Given the description of an element on the screen output the (x, y) to click on. 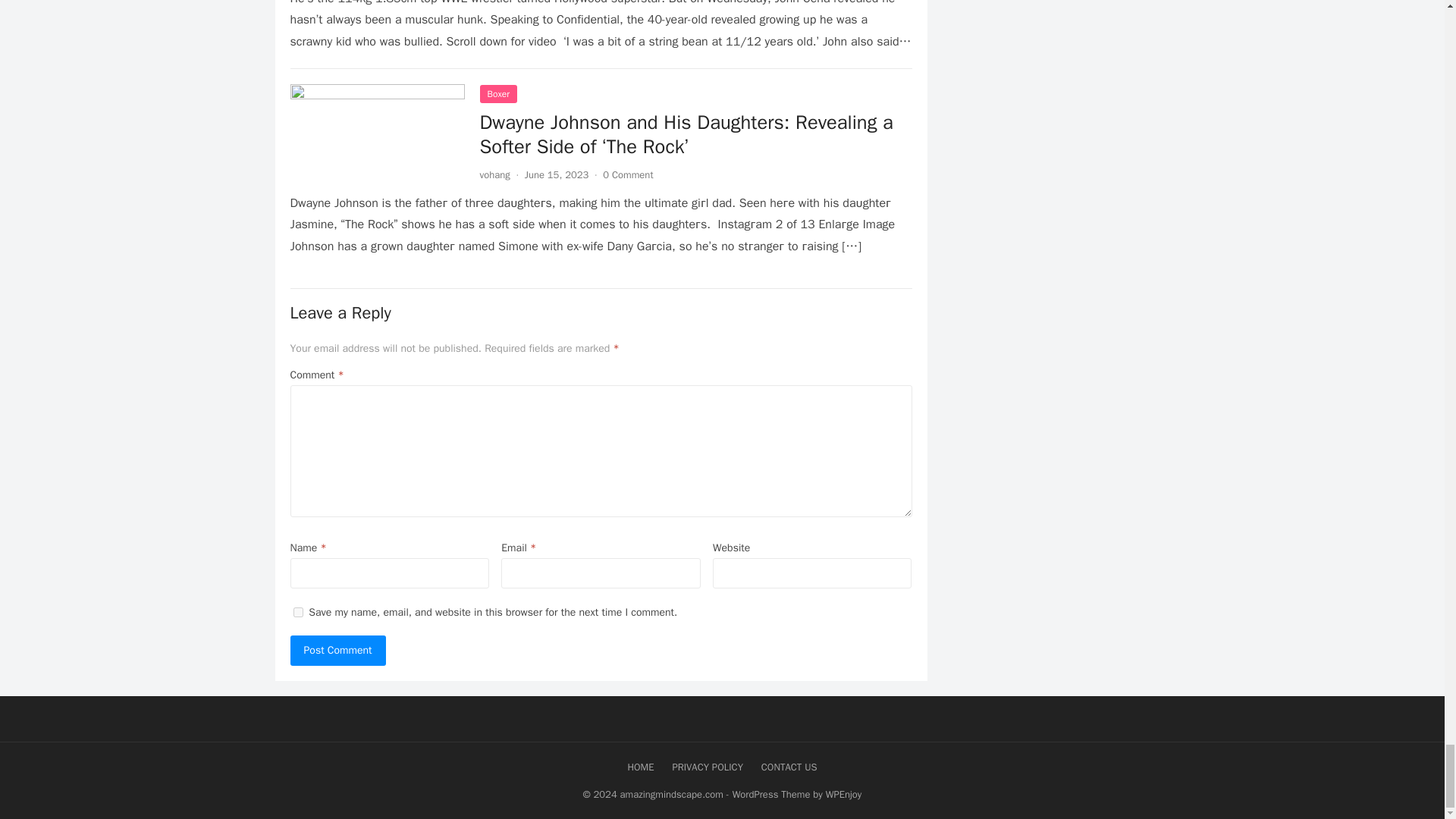
Posts by vohang (494, 174)
yes (297, 612)
Post Comment (337, 650)
